Given the description of an element on the screen output the (x, y) to click on. 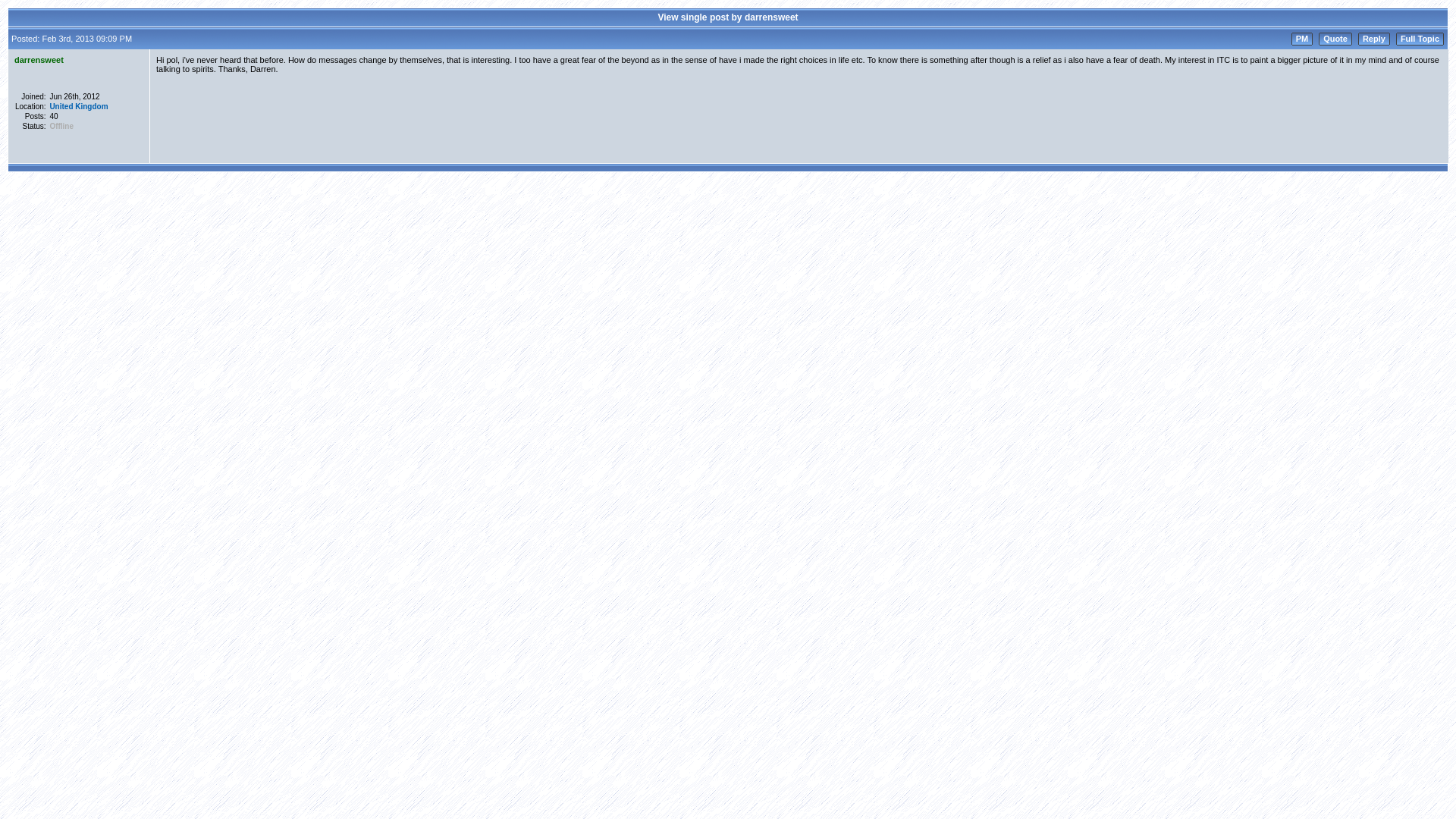
Reply (1374, 37)
Quote (1335, 37)
United Kingdom (78, 106)
darrensweet (39, 59)
Full Topic (1419, 37)
PM (1301, 37)
